Given the description of an element on the screen output the (x, y) to click on. 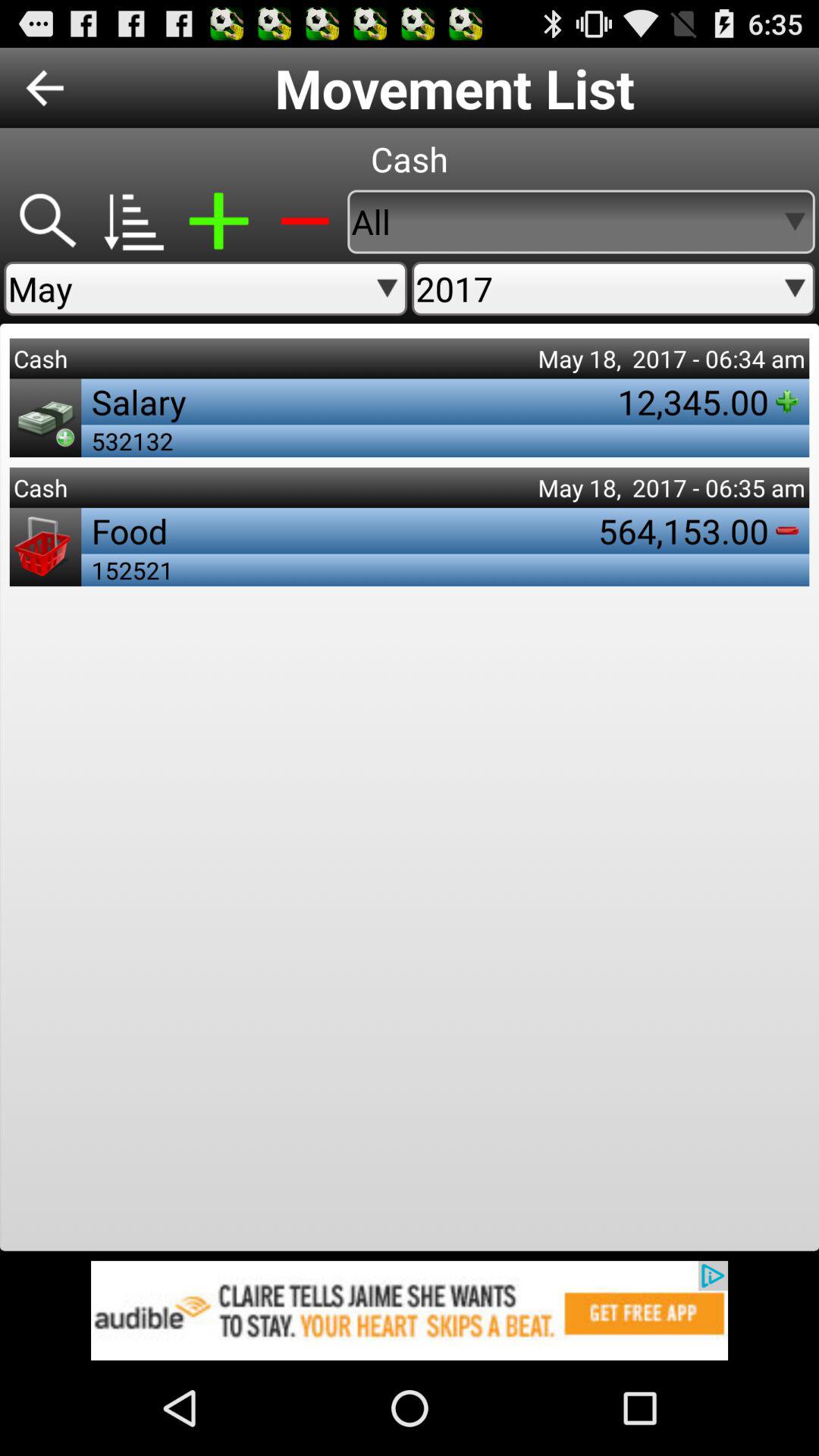
list and view options (132, 221)
